Given the description of an element on the screen output the (x, y) to click on. 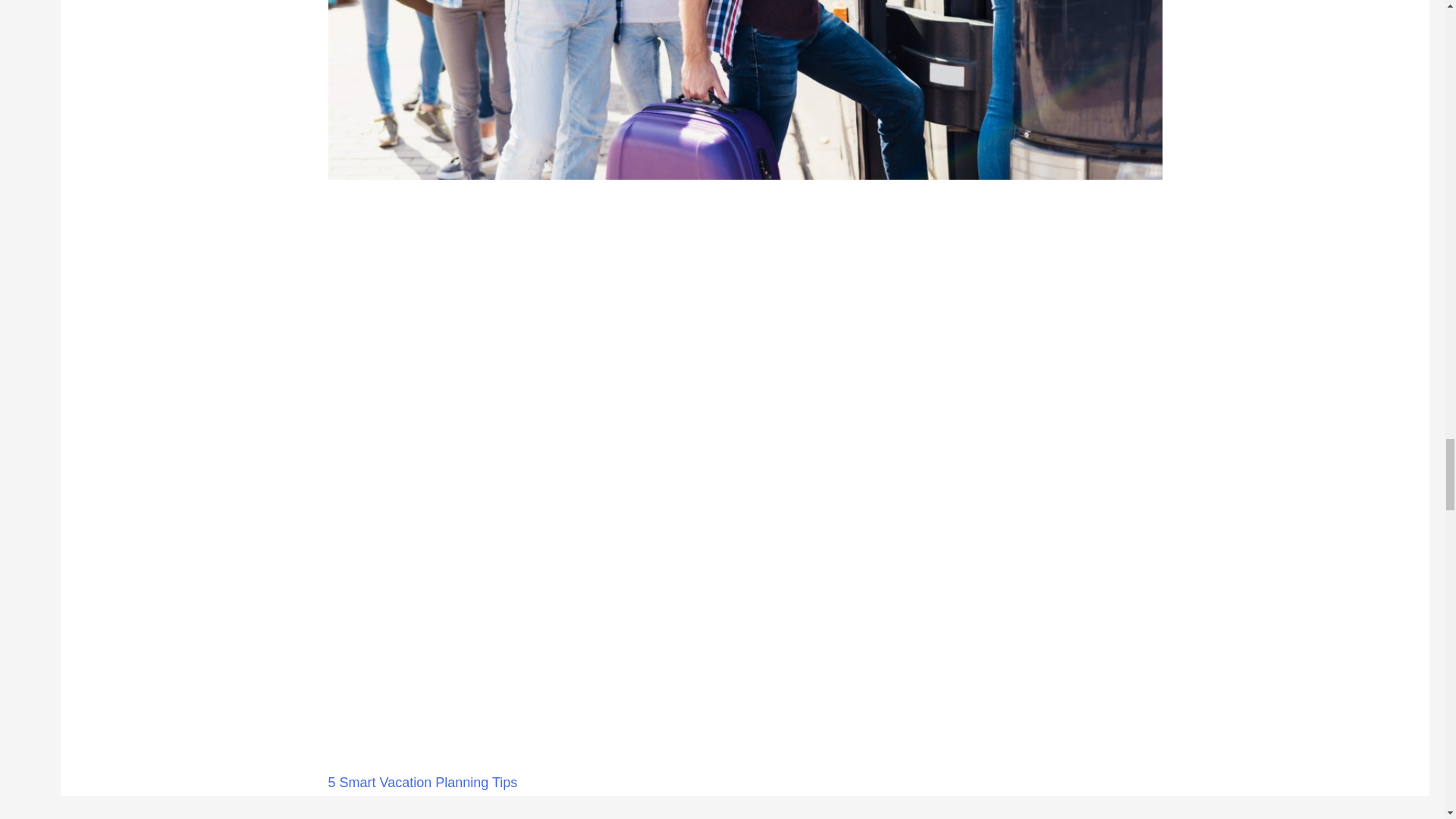
5 Smart Vacation Planning Tips (425, 782)
